Given the description of an element on the screen output the (x, y) to click on. 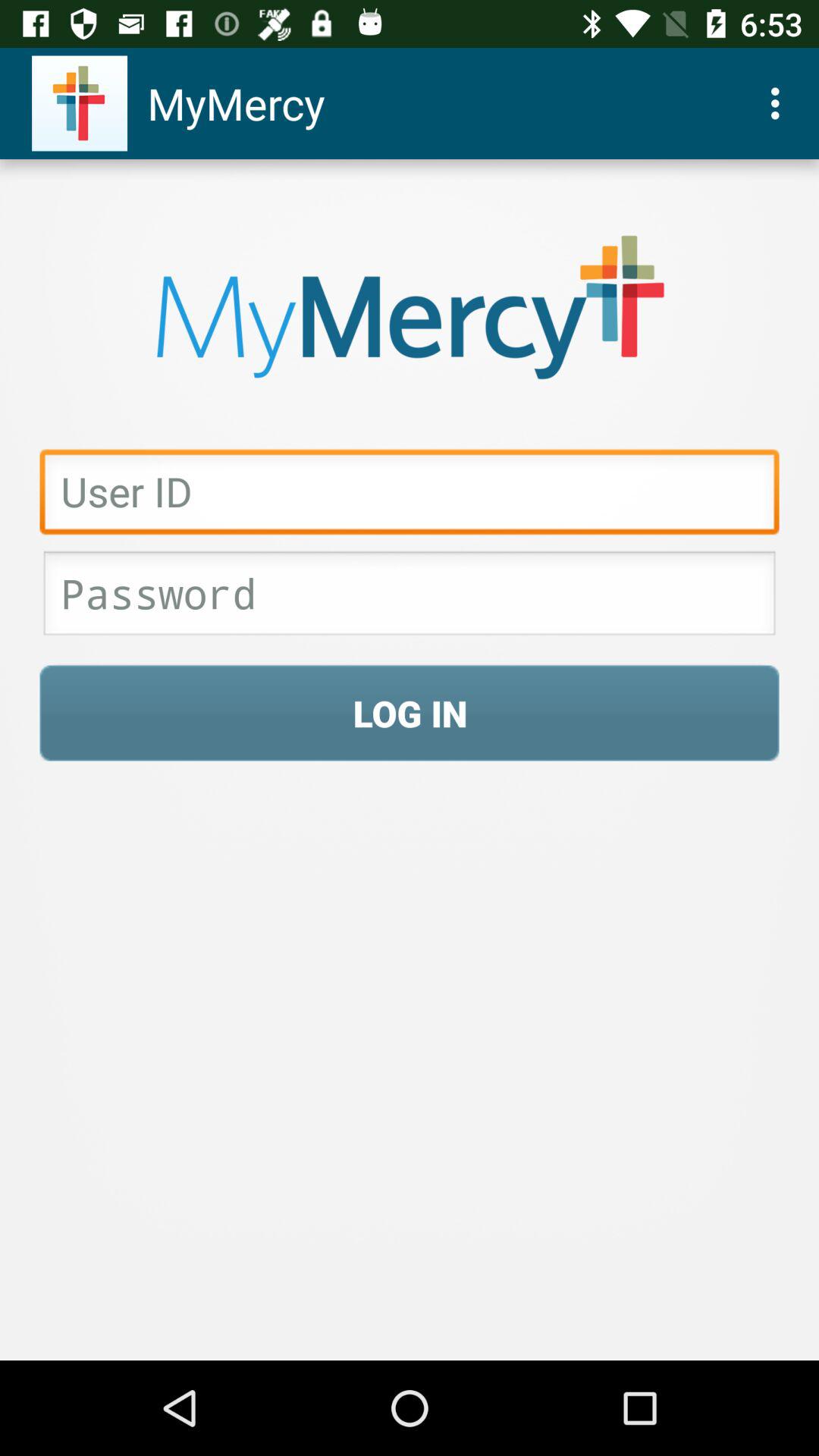
launch the item to the right of mymercy item (779, 103)
